Given the description of an element on the screen output the (x, y) to click on. 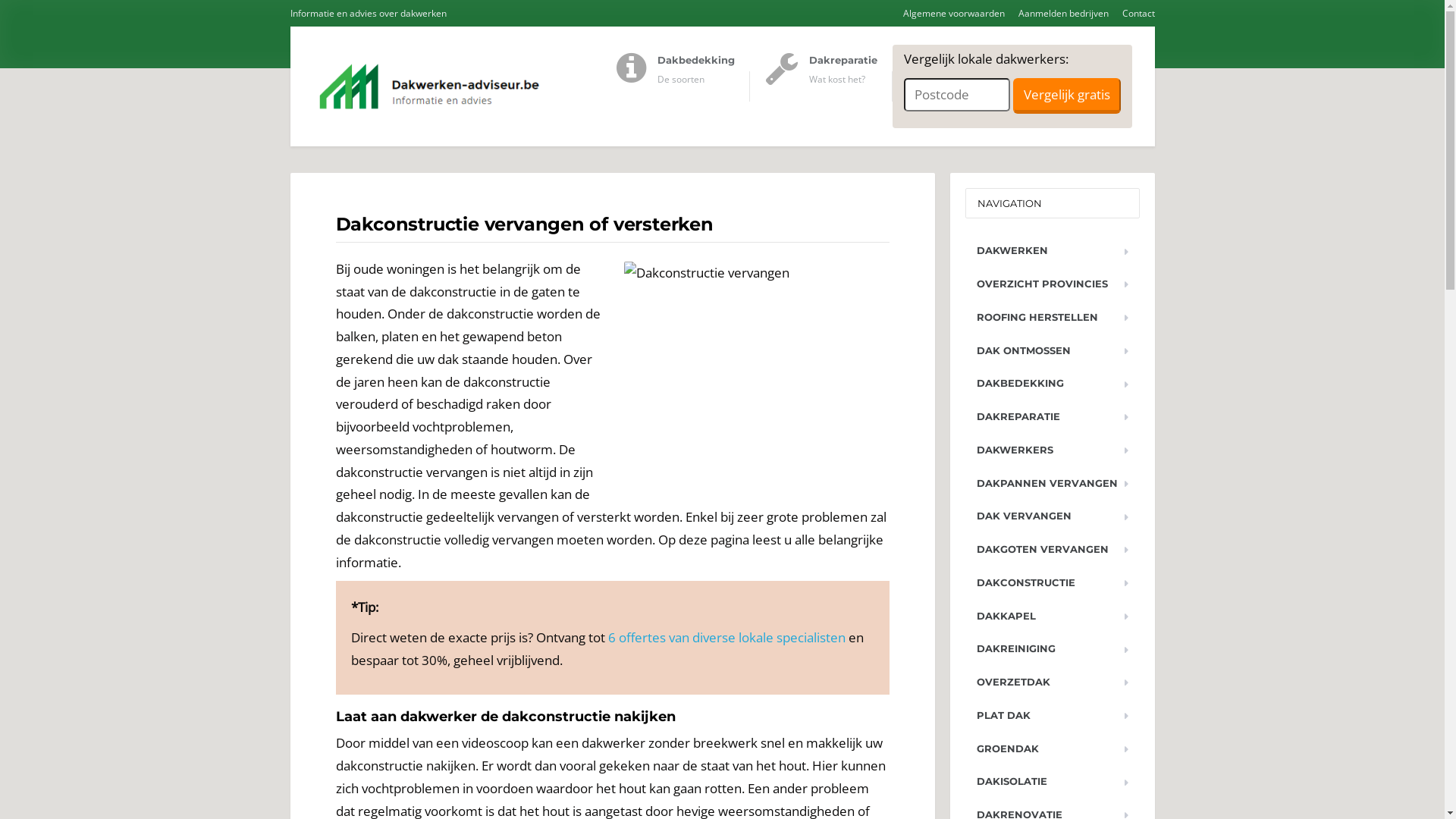
OVERZICHT PROVINCIES Element type: text (1051, 283)
DAK ONTMOSSEN Element type: text (1051, 349)
DAK VERVANGEN Element type: text (1051, 515)
Algemene voorwaarden Element type: text (947, 13)
DAKREINIGING Element type: text (1051, 648)
DAKGOTEN VERVANGEN Element type: text (1051, 549)
6 offertes van diverse lokale specialisten Element type: text (726, 637)
DAKWERKEN Element type: text (1051, 250)
ROOFING HERSTELLEN Element type: text (1051, 317)
Dakreparatie
Wat kost het? Element type: text (827, 86)
DAKBEDEKKING Element type: text (1051, 383)
DAKISOLATIE Element type: text (1051, 781)
DAKREPARATIE Element type: text (1051, 416)
PLAT DAK Element type: text (1051, 715)
DAKWERKERS Element type: text (1051, 449)
Contact Element type: text (1132, 13)
Vergelijk gratis Element type: text (1066, 95)
Aanmelden bedrijven Element type: text (1057, 13)
DAKPANNEN VERVANGEN Element type: text (1051, 483)
Dakbedekking
De soorten Element type: text (682, 86)
OVERZETDAK Element type: text (1051, 681)
DAKKAPEL Element type: text (1051, 615)
DAKCONSTRUCTIE Element type: text (1051, 582)
GROENDAK Element type: text (1051, 748)
